Given the description of an element on the screen output the (x, y) to click on. 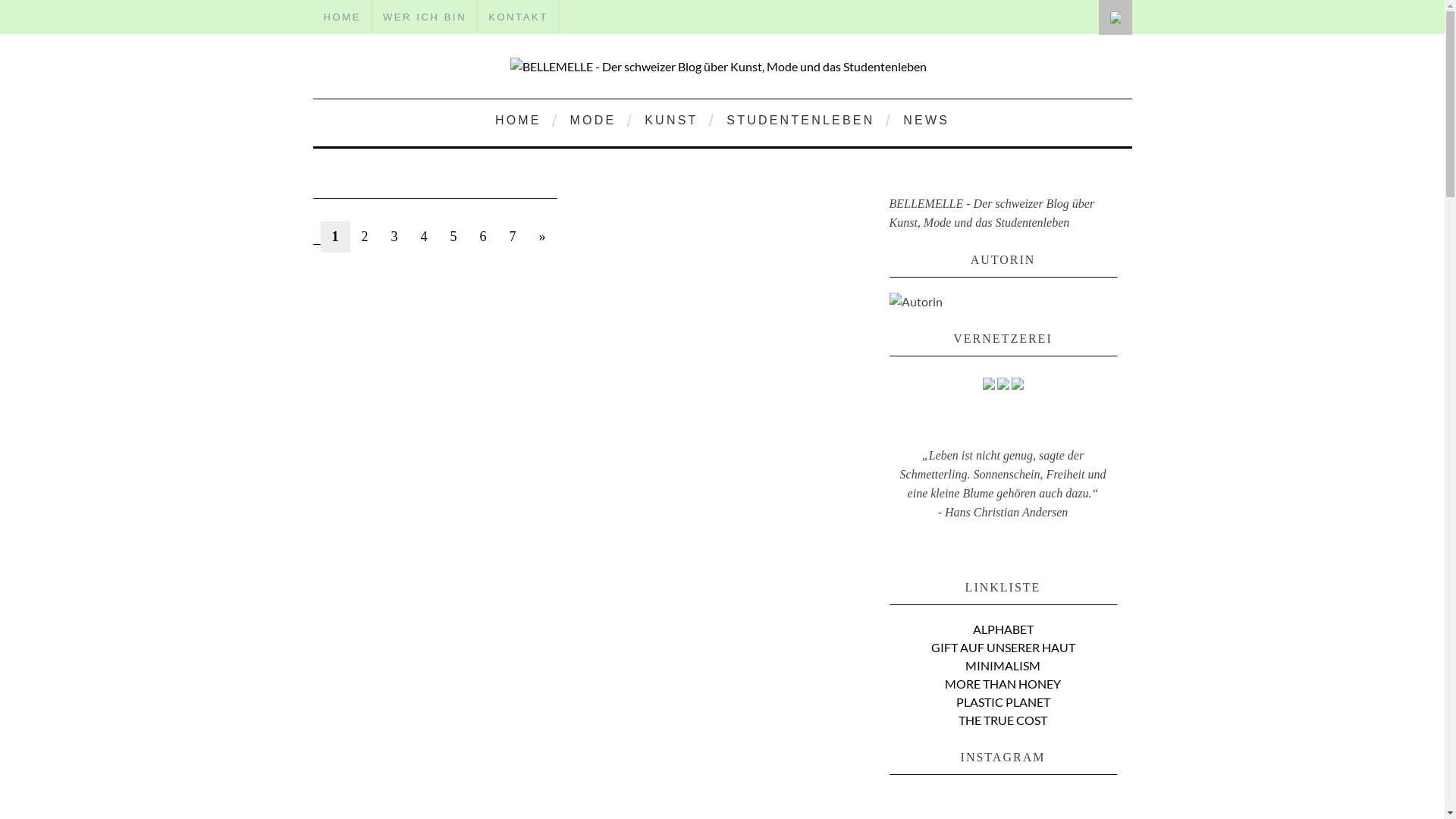
NEWS Element type: text (926, 119)
KONTAKT Element type: text (517, 17)
HOME Element type: text (341, 17)
MORE THAN HONEY Element type: text (1002, 683)
7 Element type: text (512, 236)
KUNST Element type: text (670, 119)
PLASTIC PLANET Element type: text (1002, 701)
2 Element type: text (364, 236)
MODE Element type: text (593, 119)
THE TRUE COST Element type: text (1002, 719)
GIFT AUF UNSERER HAUT Element type: text (1003, 647)
5 Element type: text (452, 236)
ALPHABET Element type: text (1002, 628)
4 Element type: text (424, 236)
3 Element type: text (393, 236)
HOME Element type: text (518, 119)
WER ICH BIN Element type: text (424, 17)
MINIMALISM Element type: text (1002, 665)
6 Element type: text (483, 236)
STUDENTENLEBEN Element type: text (799, 119)
